Given the description of an element on the screen output the (x, y) to click on. 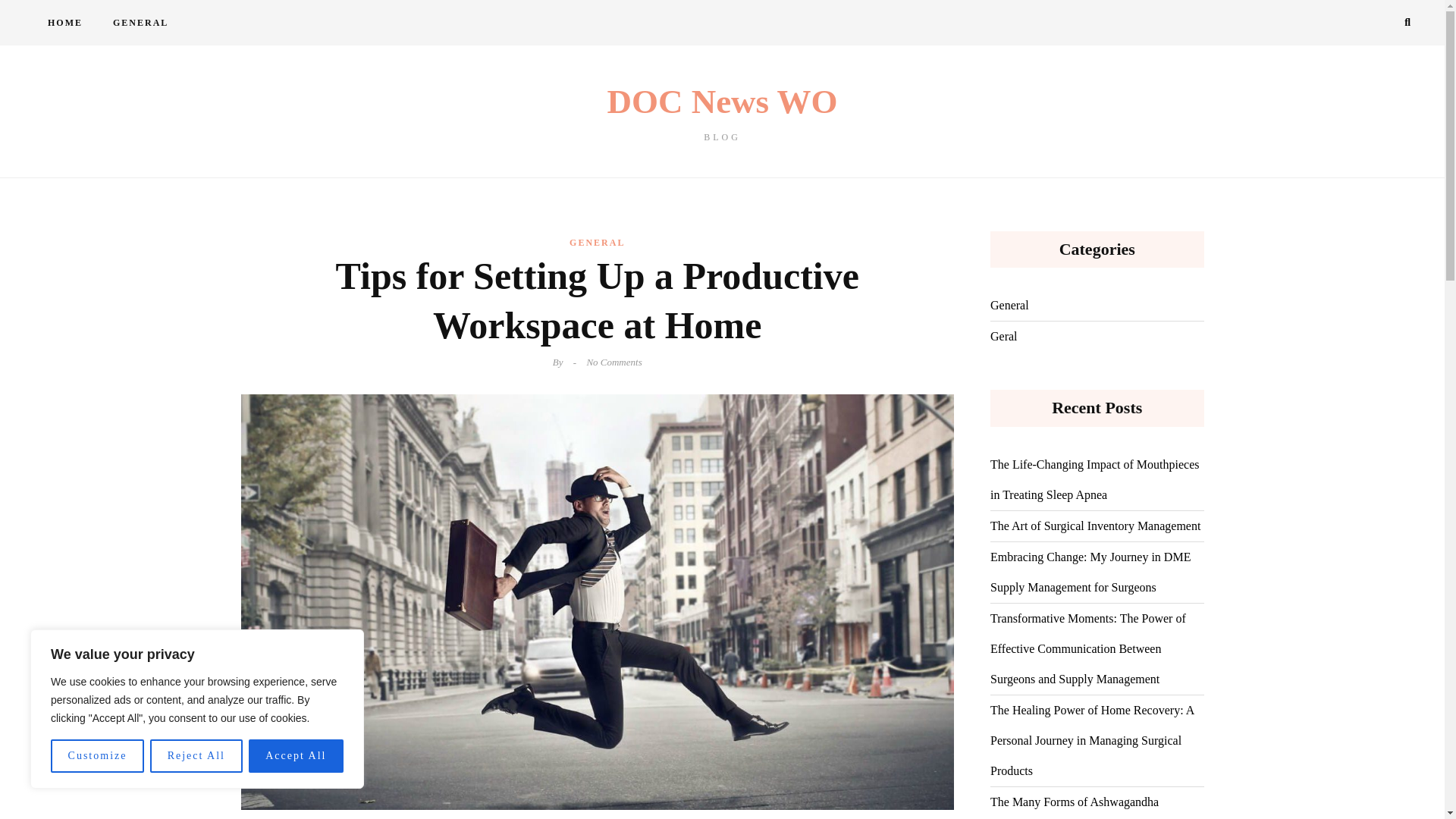
GENERAL (596, 241)
HOME (64, 22)
General (1009, 305)
Customize (721, 112)
GENERAL (97, 756)
Accept All (140, 22)
Reject All (295, 756)
